Given the description of an element on the screen output the (x, y) to click on. 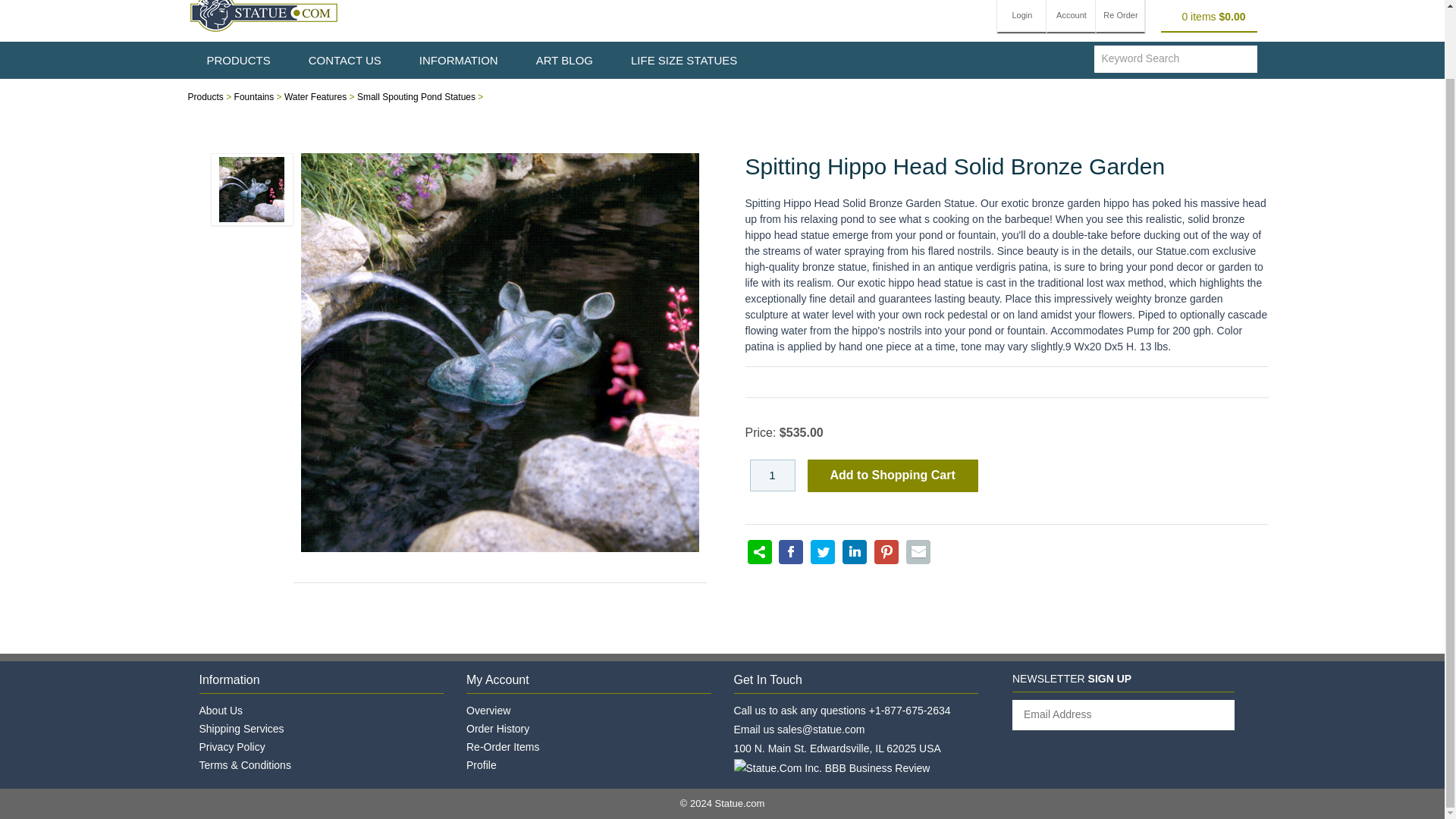
INFORMATION (458, 59)
Water Features (314, 96)
ART BLOG (563, 59)
PRODUCTS (238, 59)
Products (205, 96)
1 (771, 474)
Re Order (1120, 16)
Add to Shopping Cart (891, 475)
Login (1021, 16)
Fountains (254, 96)
CONTACT US (344, 59)
Login (1021, 16)
Small Spouting Pond Statues (416, 96)
LIFE SIZE STATUES (683, 59)
Account (1071, 16)
